Given the description of an element on the screen output the (x, y) to click on. 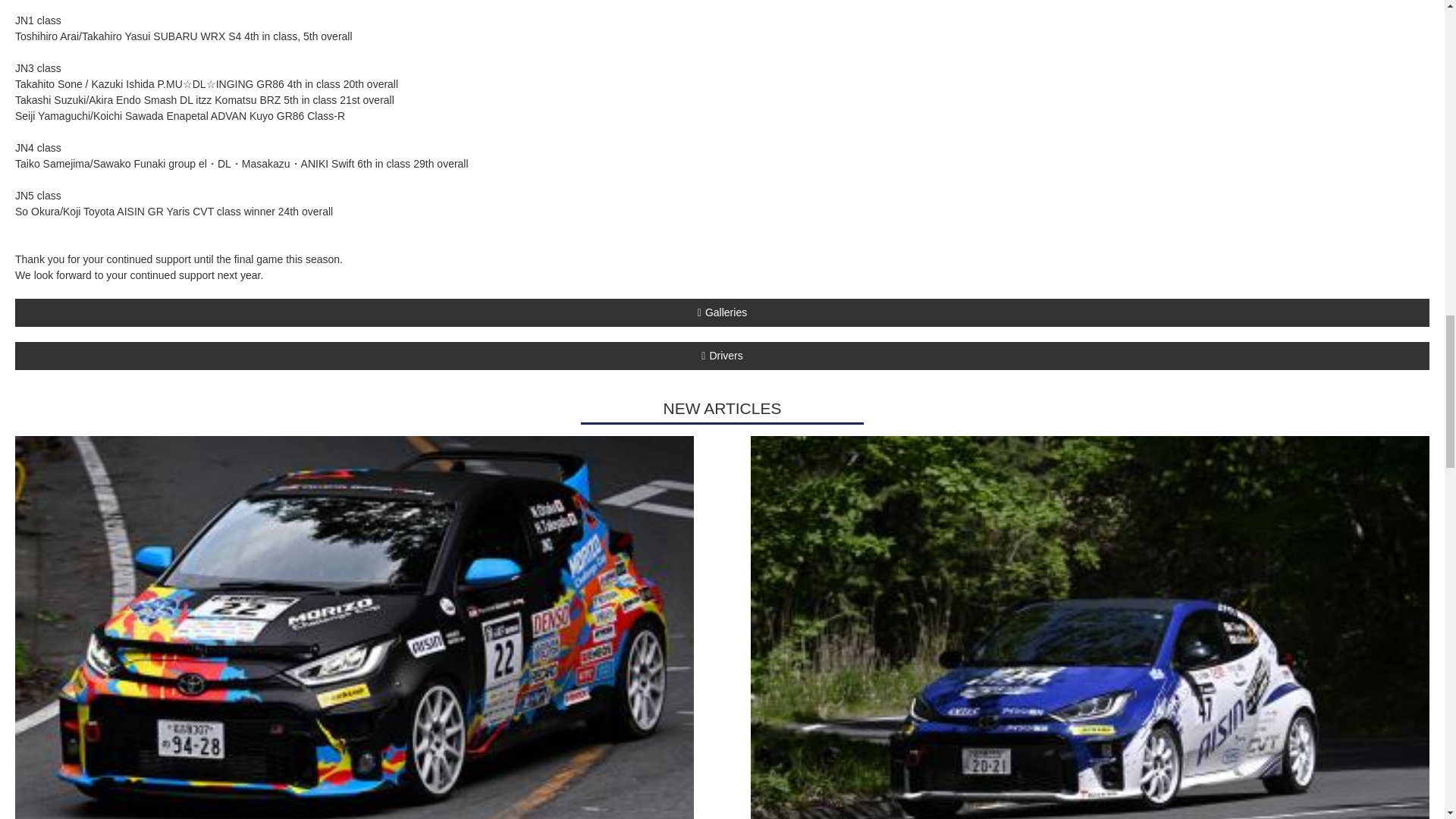
Galleries (721, 312)
